Given the description of an element on the screen output the (x, y) to click on. 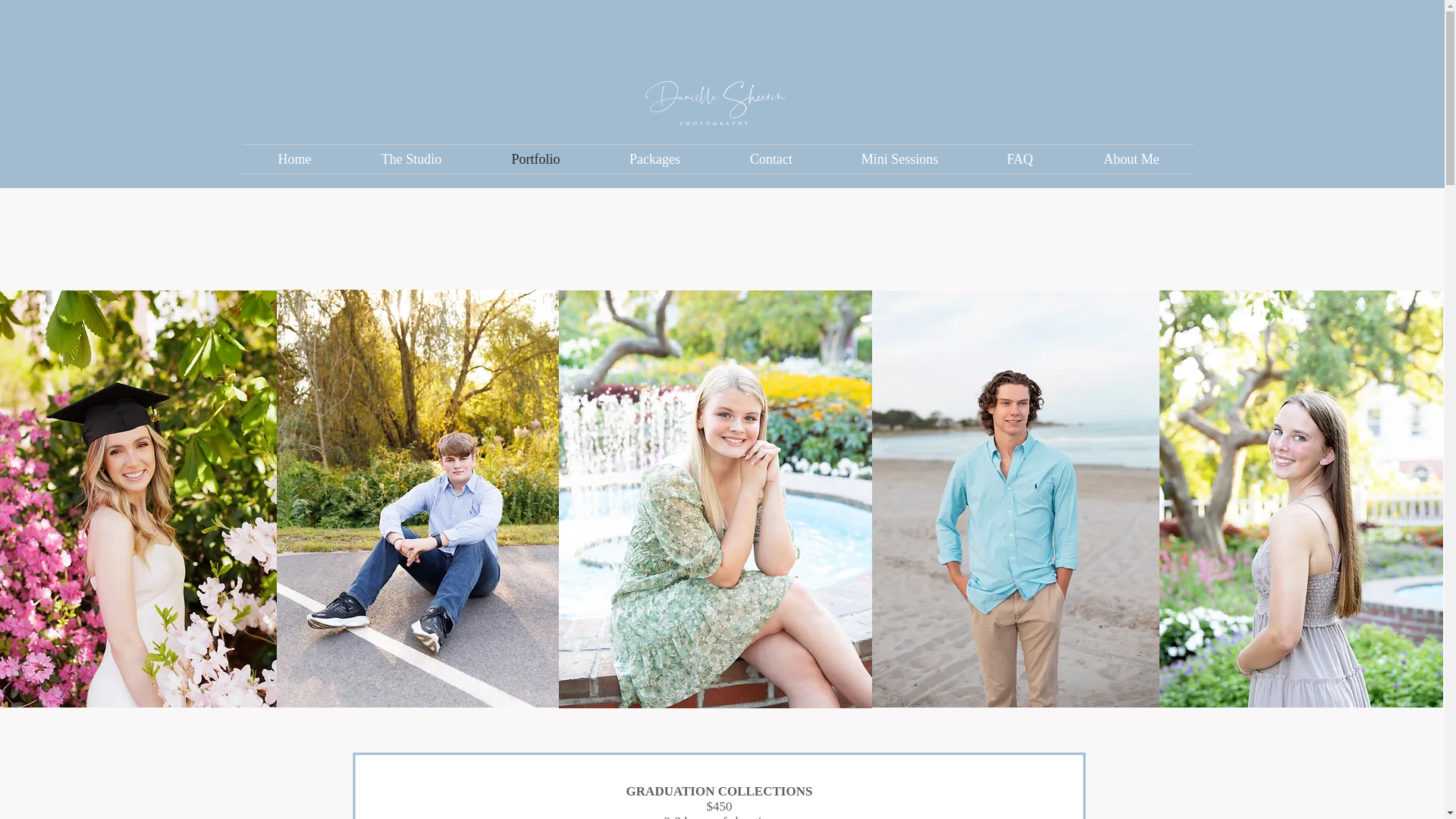
About Me (1130, 158)
Mini Sessions (899, 158)
Home (295, 158)
The Studio (411, 158)
Portfolio (535, 158)
FAQ (1019, 158)
Contact (771, 158)
Packages (654, 158)
